Given the description of an element on the screen output the (x, y) to click on. 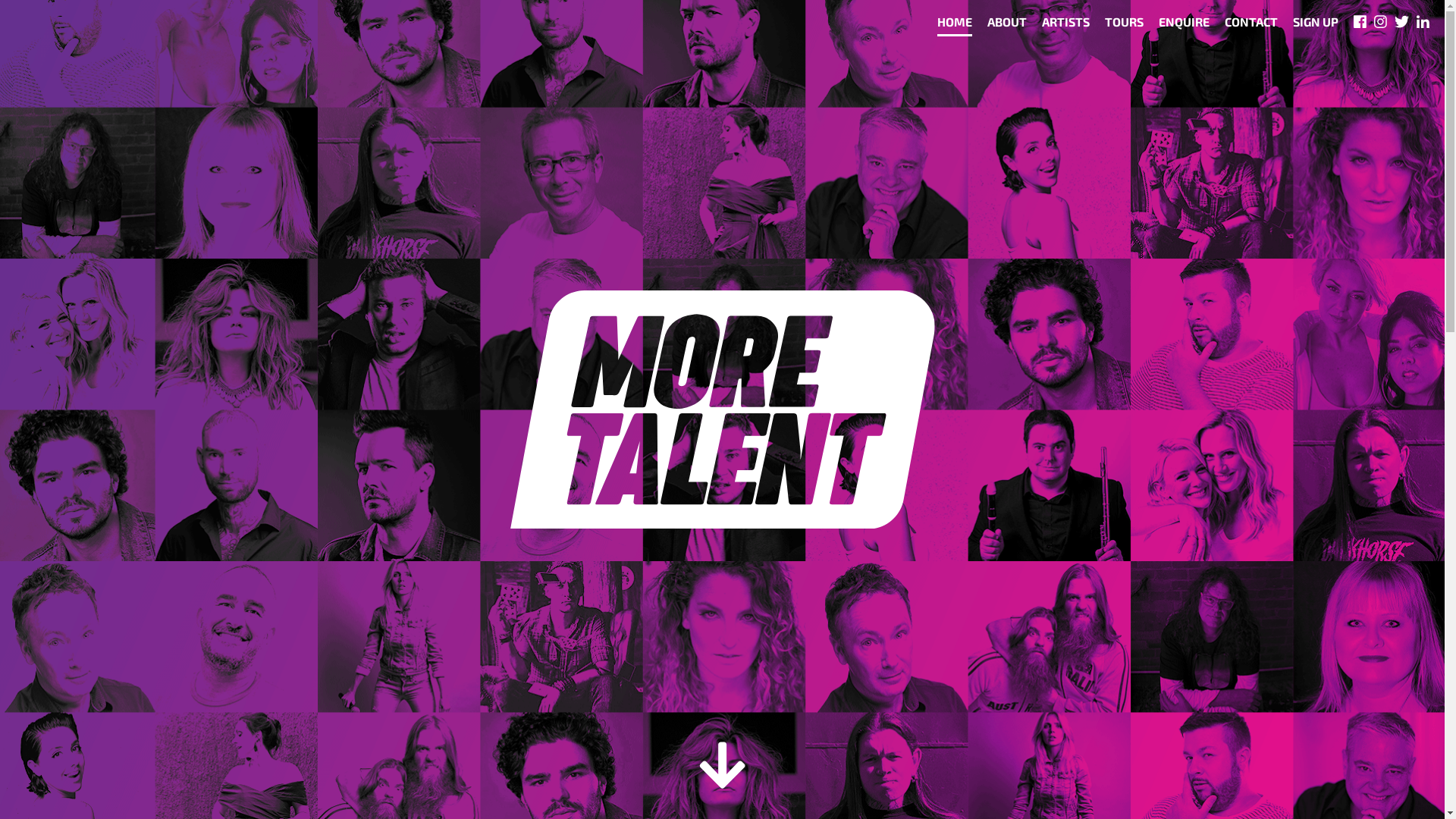
MITCHELL COOMBS Element type: text (1259, 143)
ENQUIRE Element type: text (1183, 25)
CONTACT Element type: text (1250, 25)
NAT'S WHAT I RECKON Element type: text (1268, 406)
TOFIGA FEPULEA'I Element type: text (1253, 322)
ARTISTS Element type: text (1065, 25)
HOME Element type: text (954, 25)
SIGN UP Element type: text (1315, 25)
NAT'S WHAT I RECKON Element type: text (1268, 489)
RAINBOW HISTORY CLASS (HANNAH MCELHINNEY & RUDY JEAN RIGG) Element type: text (1302, 241)
TOURS Element type: text (1123, 25)
ABOUT Element type: text (1006, 25)
